Given the description of an element on the screen output the (x, y) to click on. 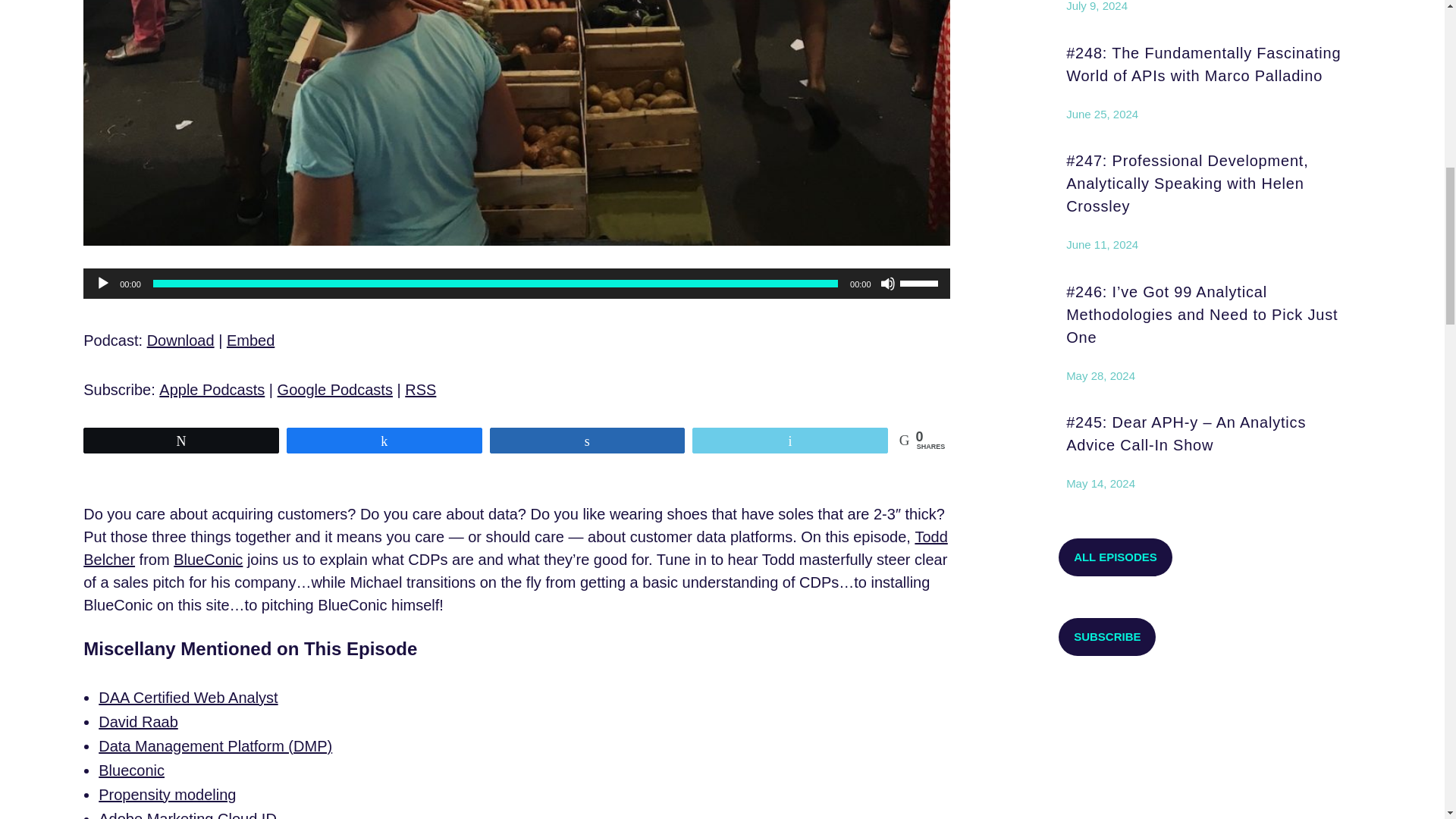
RSS (419, 389)
Google Podcasts (335, 389)
DAA Certified Web Analyst (188, 697)
Download (180, 340)
Embed (251, 340)
Apple Podcasts (211, 389)
BlueConic (208, 559)
David Raab (138, 721)
Todd Belcher (514, 548)
